Given the description of an element on the screen output the (x, y) to click on. 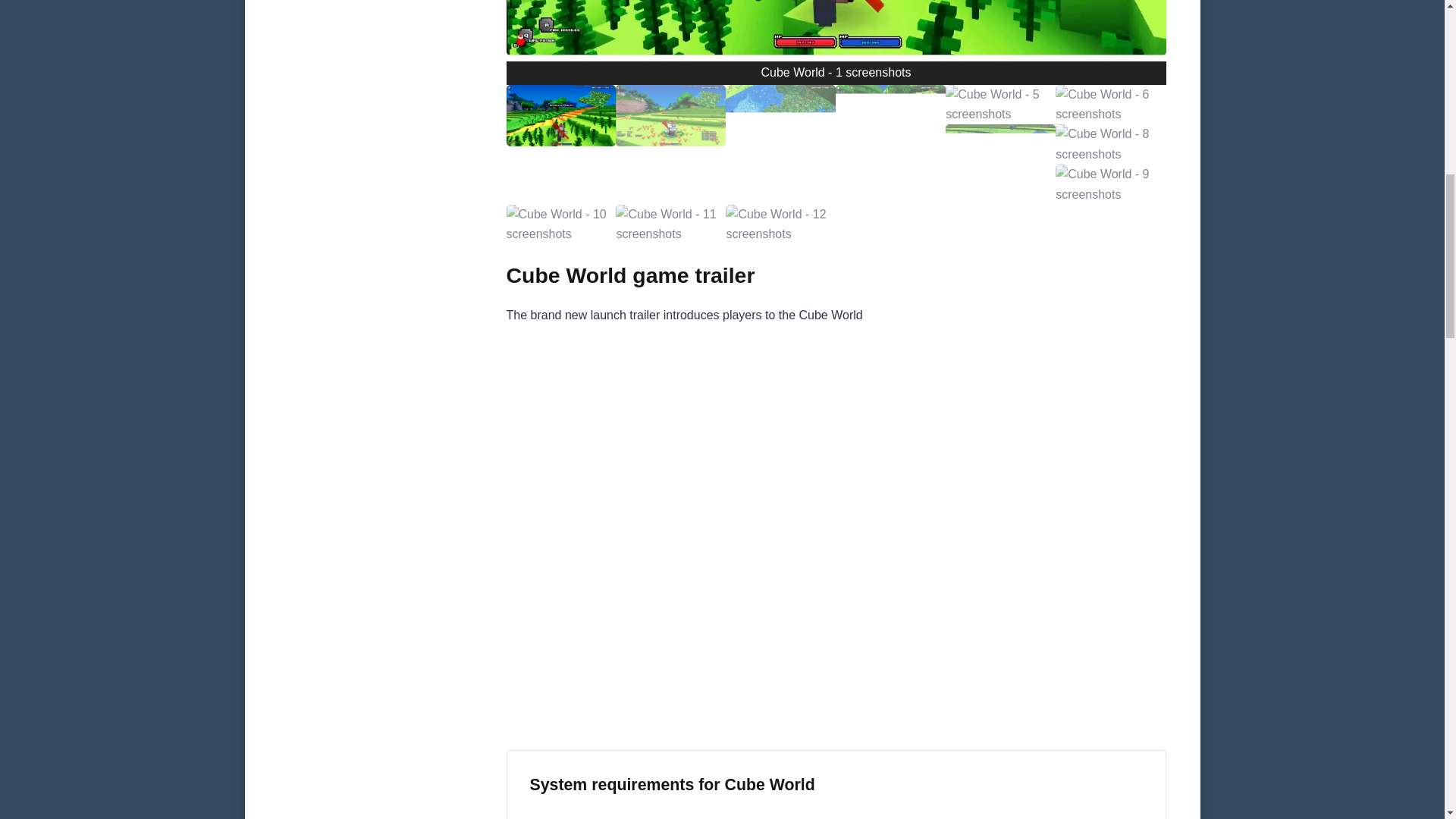
Mac OS X (624, 813)
Windows (560, 813)
